Given the description of an element on the screen output the (x, y) to click on. 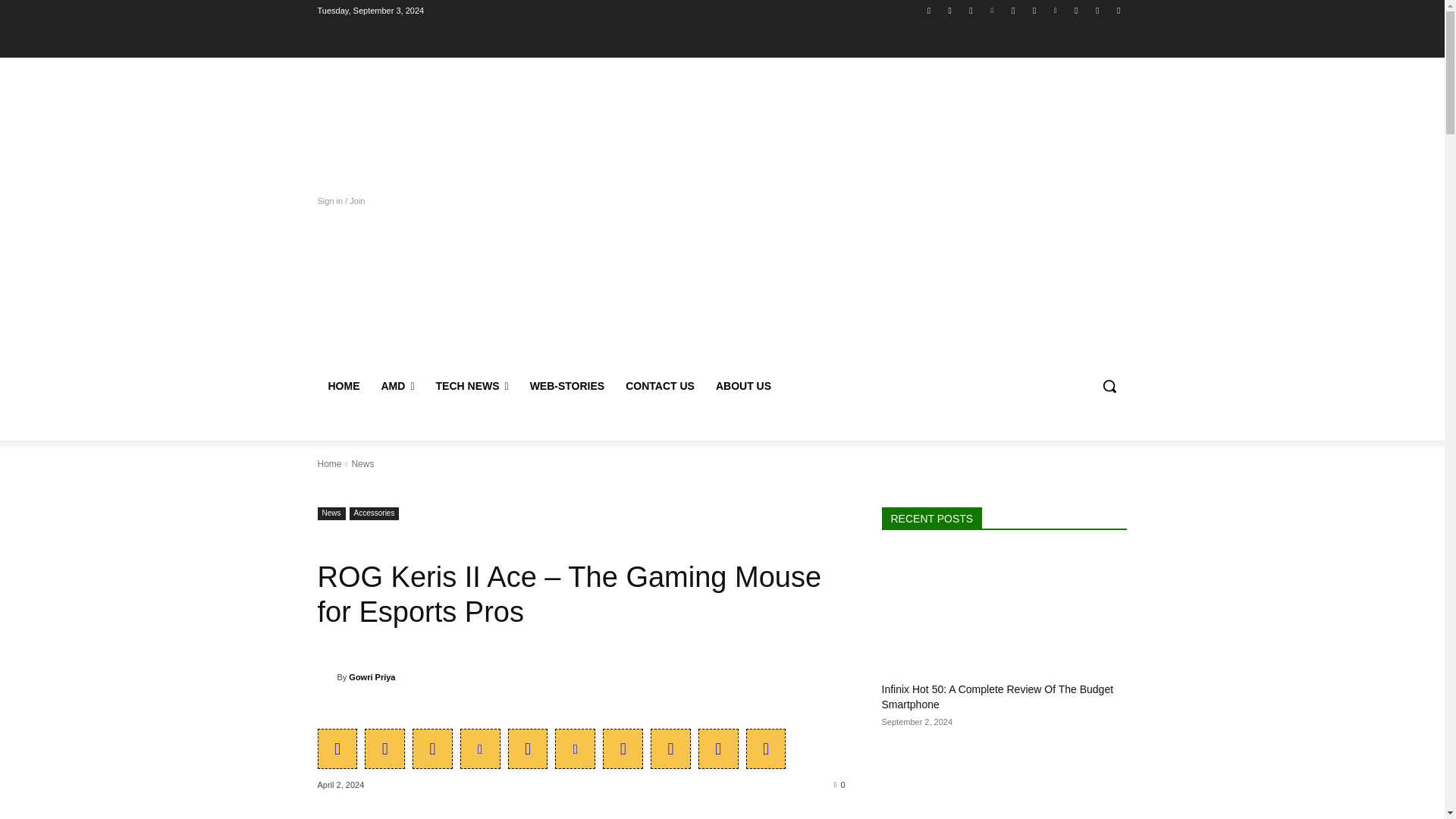
Facebook (928, 9)
Reddit (1097, 9)
Tumblr (1034, 9)
Pinterest (1055, 9)
Whatsapp (1075, 9)
Medium (1013, 9)
Share (1117, 9)
Instagram (949, 9)
Twitter (970, 9)
Linkedin (992, 9)
